Given the description of an element on the screen output the (x, y) to click on. 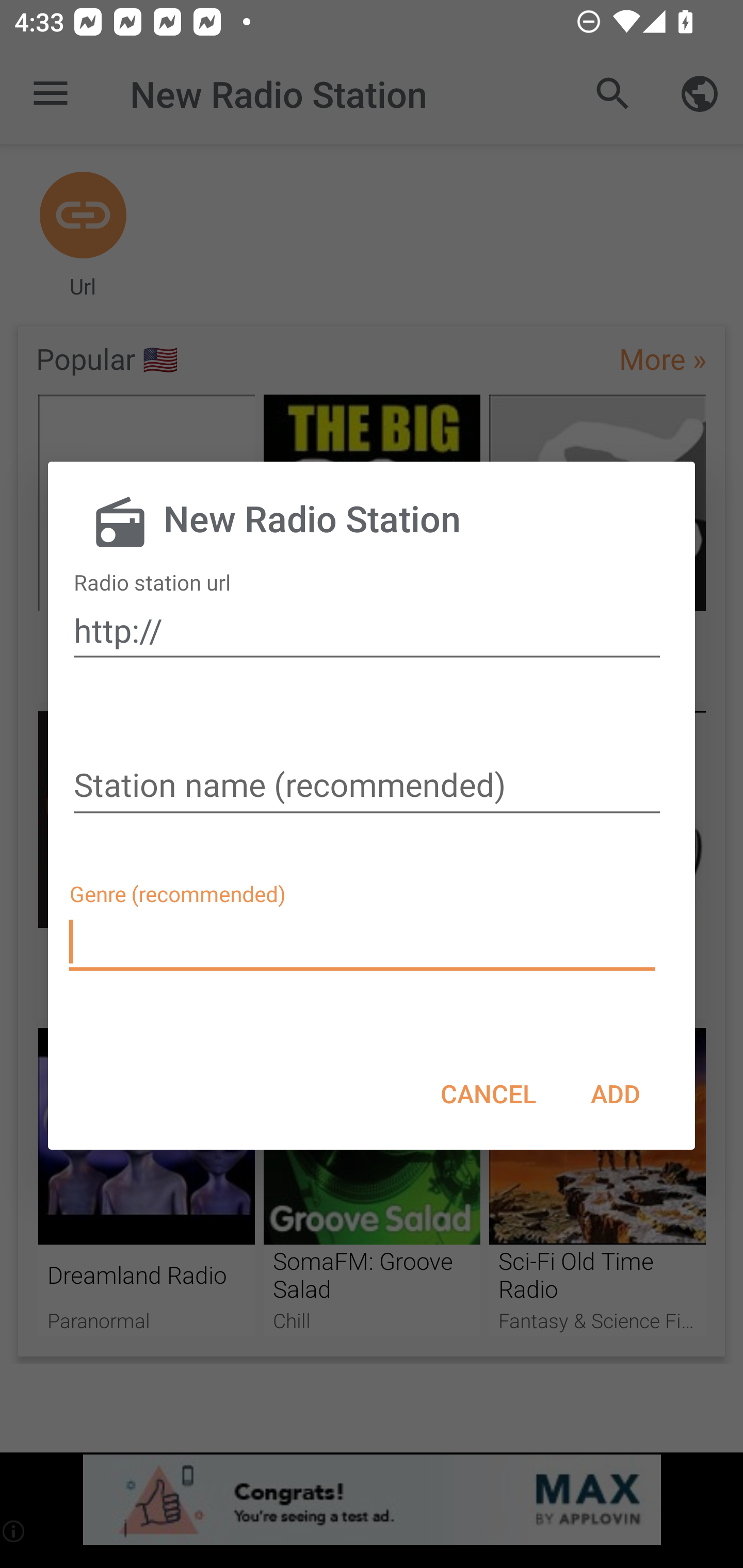
http:// (366, 630)
Station name (recommended) (366, 786)
Genre (recommended) (364, 942)
CANCEL (488, 1093)
ADD (615, 1093)
